Given the description of an element on the screen output the (x, y) to click on. 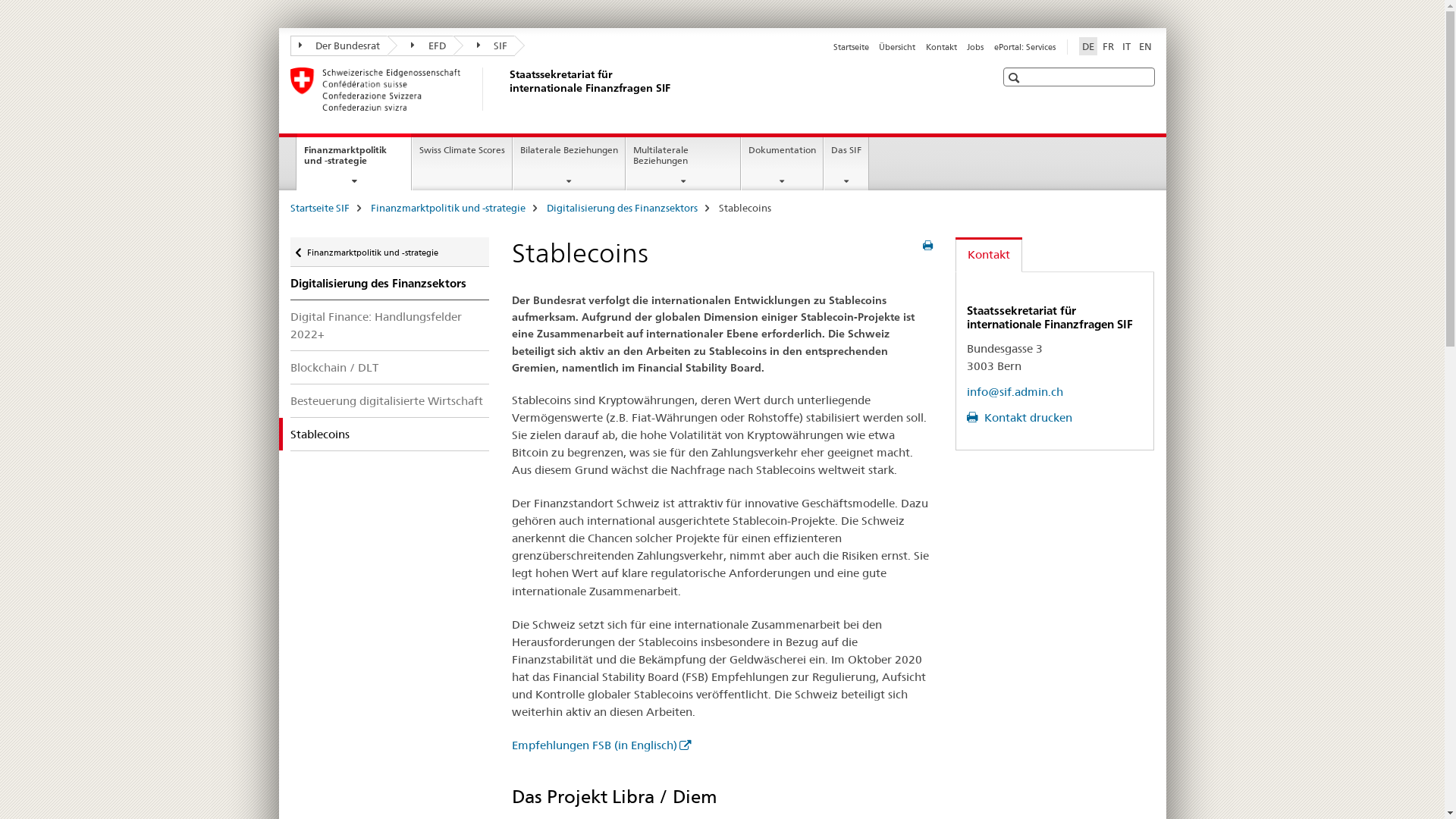
Kontakt Element type: text (988, 255)
Jobs Element type: text (974, 46)
Digitalisierung des Finanzsektors Element type: text (389, 283)
Bilaterale Beziehungen Element type: text (568, 163)
EN Element type: text (1144, 46)
Empfehlungen FSB (in Englisch) Element type: text (600, 744)
Besteuerung digitalisierte Wirtschaft Element type: text (389, 400)
Blockchain / DLT Element type: text (389, 367)
SIF Element type: text (484, 45)
Kontakt drucken Element type: text (1019, 417)
ePortal: Services Element type: text (1023, 46)
DE Element type: text (1087, 46)
EFD Element type: text (420, 45)
Finanzmarktpolitik und -strategie Element type: text (447, 207)
FR Element type: text (1108, 46)
Seite drucken Element type: hover (927, 245)
Kontakt Element type: text (941, 46)
Dokumentation Element type: text (781, 163)
Der Bundesrat Element type: text (338, 45)
Swiss Climate Scores Element type: text (461, 163)
Digitalisierung des Finanzsektors Element type: text (621, 207)
info@sif.admin.ch Element type: text (1014, 391)
Digital Finance: Handlungsfelder 2022+ Element type: text (389, 325)
Finanzmarktpolitik und -strategie
current page Element type: text (354, 161)
Startseite Element type: text (851, 46)
Multilaterale Beziehungen Element type: text (683, 163)
IT Element type: text (1126, 46)
Das SIF Element type: text (846, 163)
Startseite SIF Element type: text (318, 207)
